Given the description of an element on the screen output the (x, y) to click on. 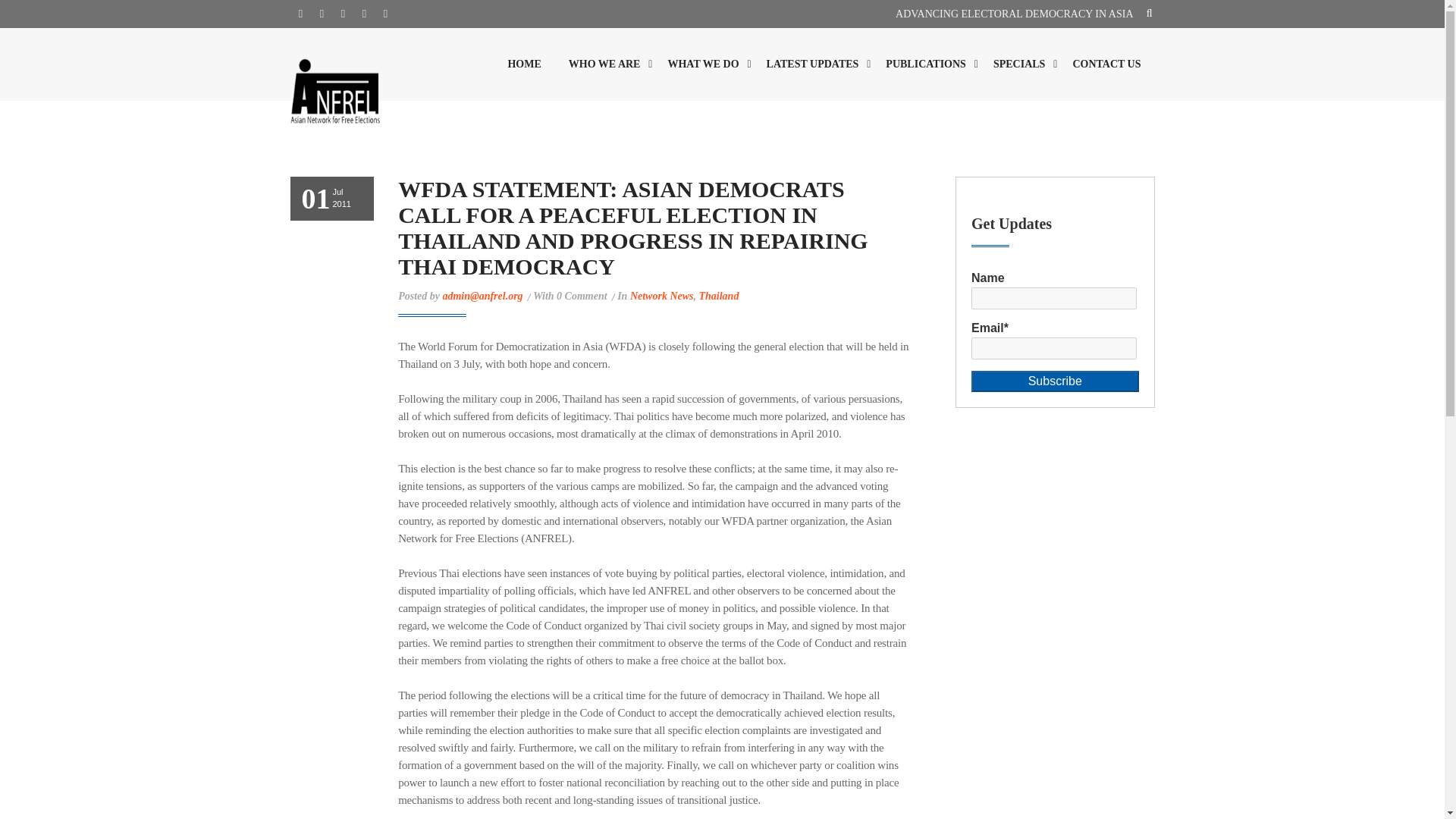
What We Do (702, 63)
LATEST UPDATES (812, 63)
WHO WE ARE (603, 63)
PUBLICATIONS (925, 63)
Who We Are (603, 63)
ADVANCING ELECTORAL DEMOCRACY IN ASIA (1013, 13)
WHAT WE DO (702, 63)
Subscribe (1054, 382)
